Given the description of an element on the screen output the (x, y) to click on. 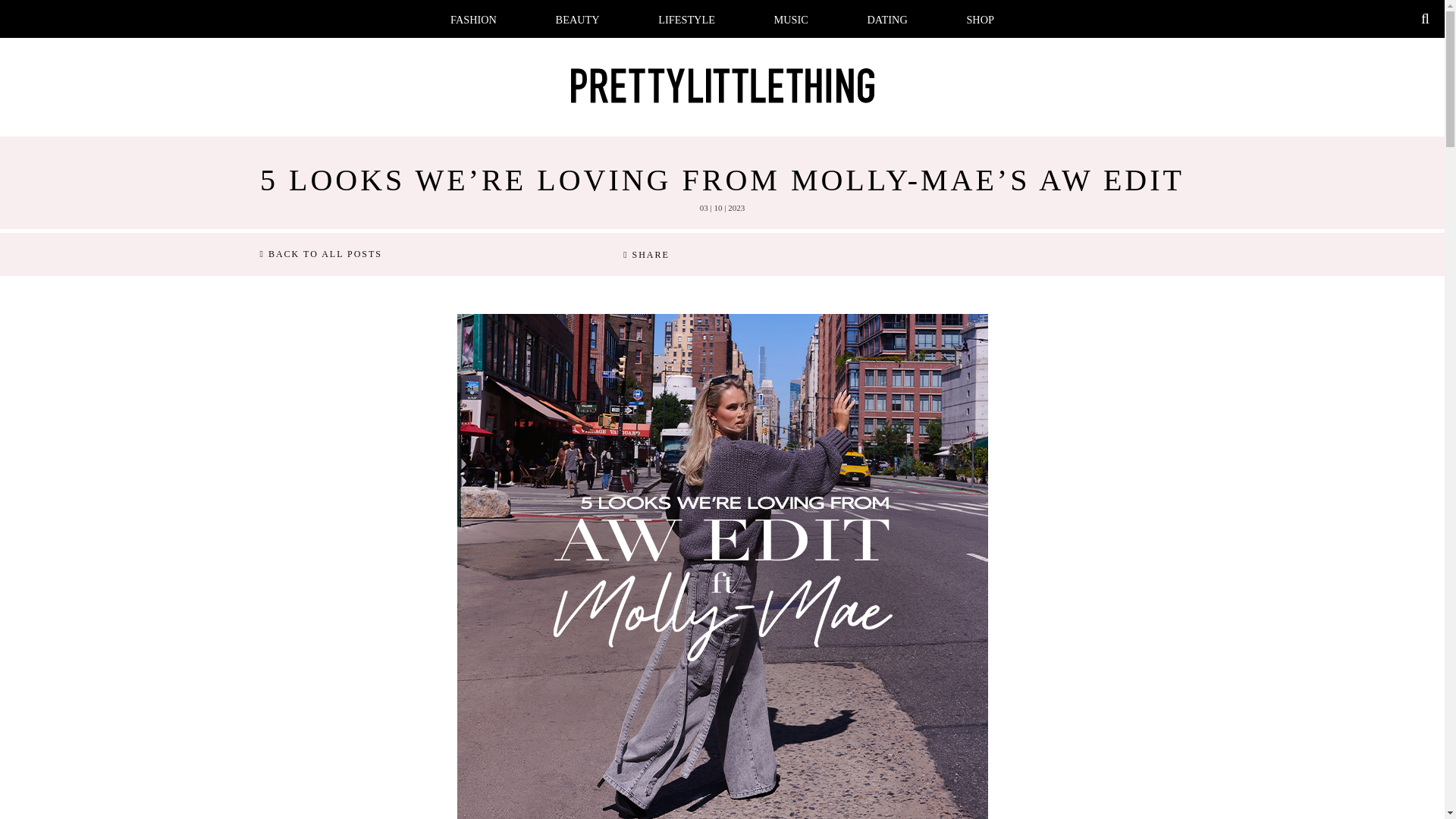
BACK TO ALL POSTS (320, 254)
DATING (887, 19)
BEAUTY (577, 19)
SHARE (646, 254)
MUSIC (791, 19)
SHOP (980, 19)
LIFESTYLE (686, 19)
FASHION (472, 19)
